Given the description of an element on the screen output the (x, y) to click on. 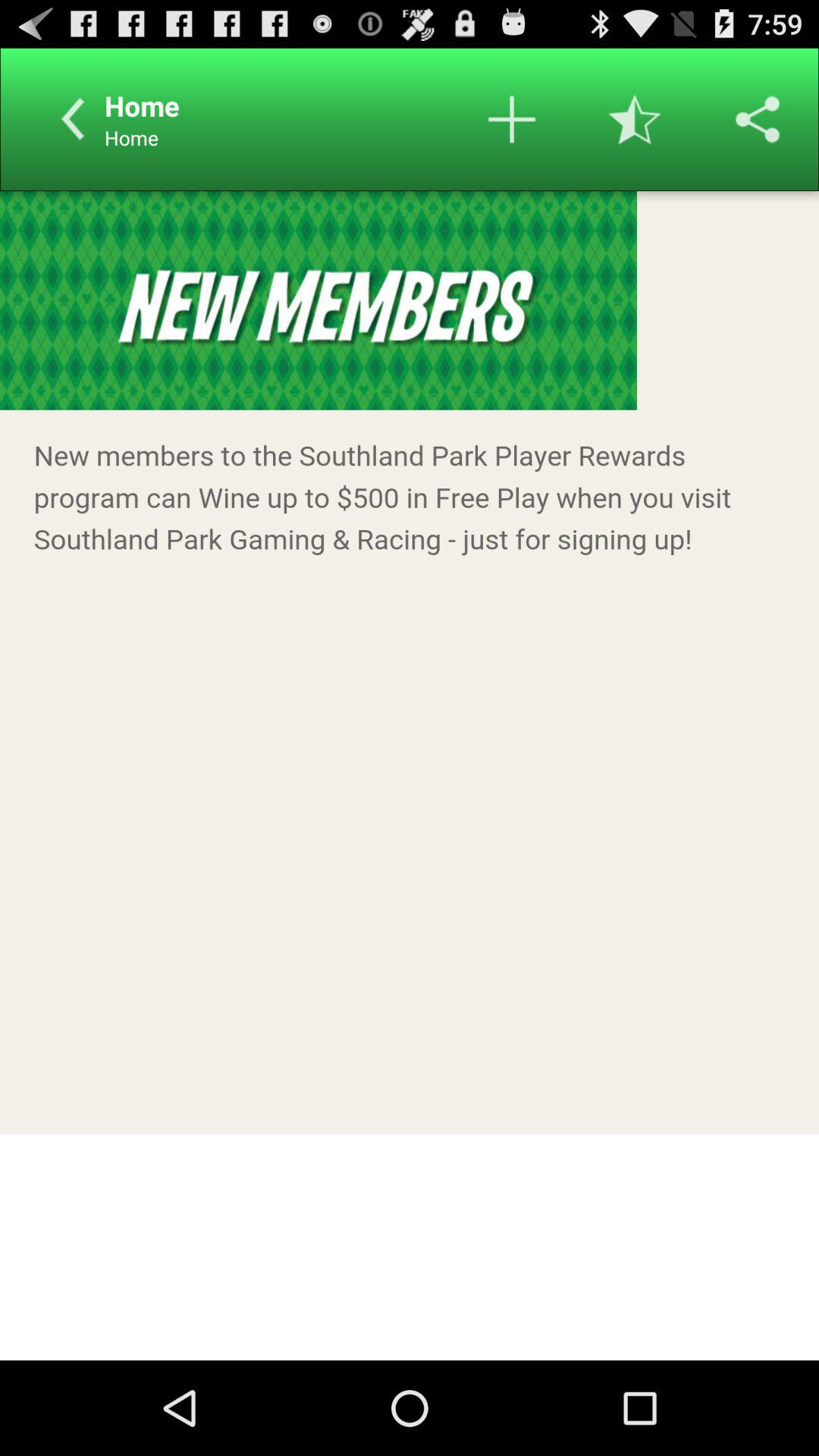
options to share in other social platforms (757, 119)
